Given the description of an element on the screen output the (x, y) to click on. 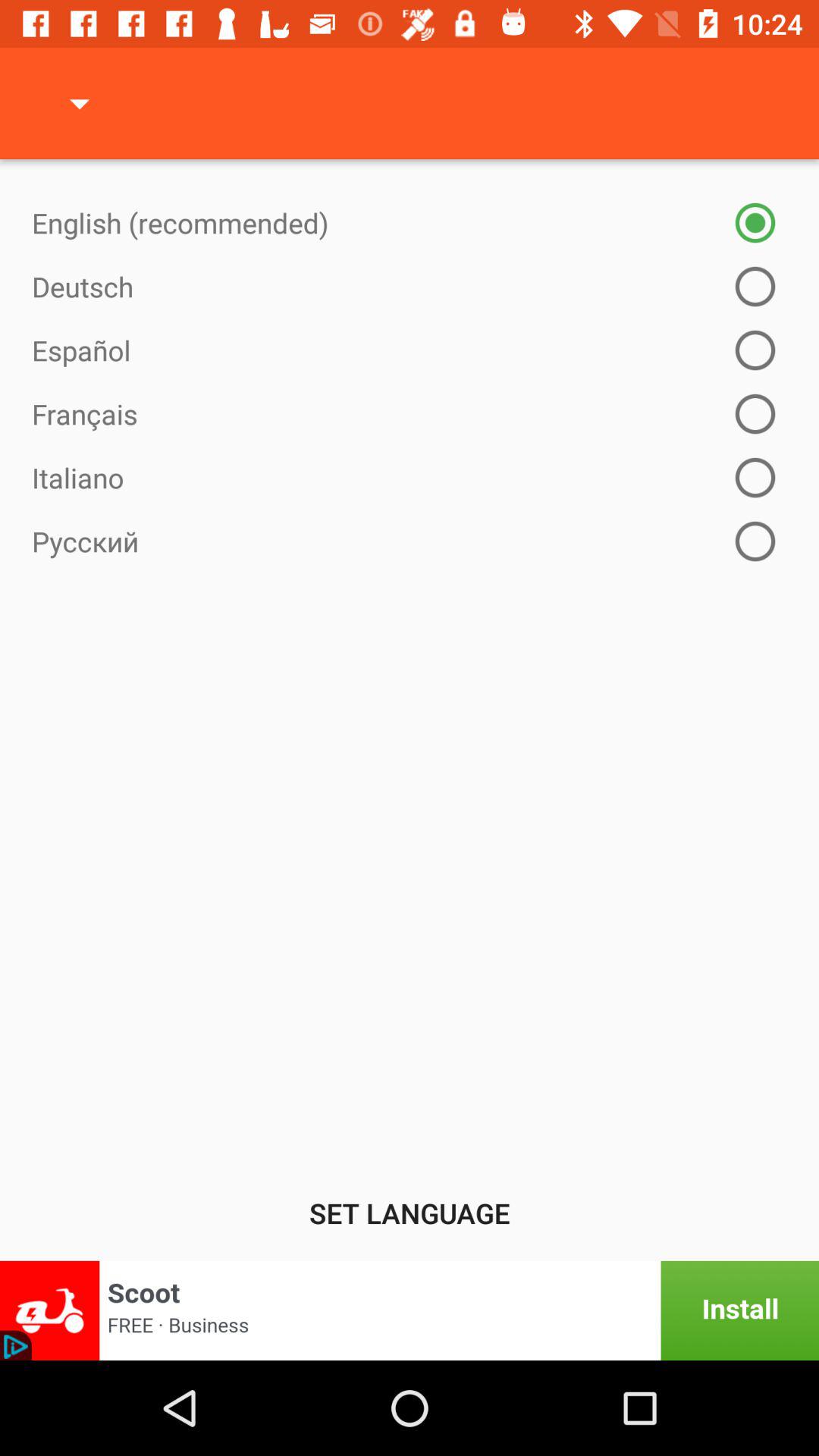
install an app (409, 1310)
